Given the description of an element on the screen output the (x, y) to click on. 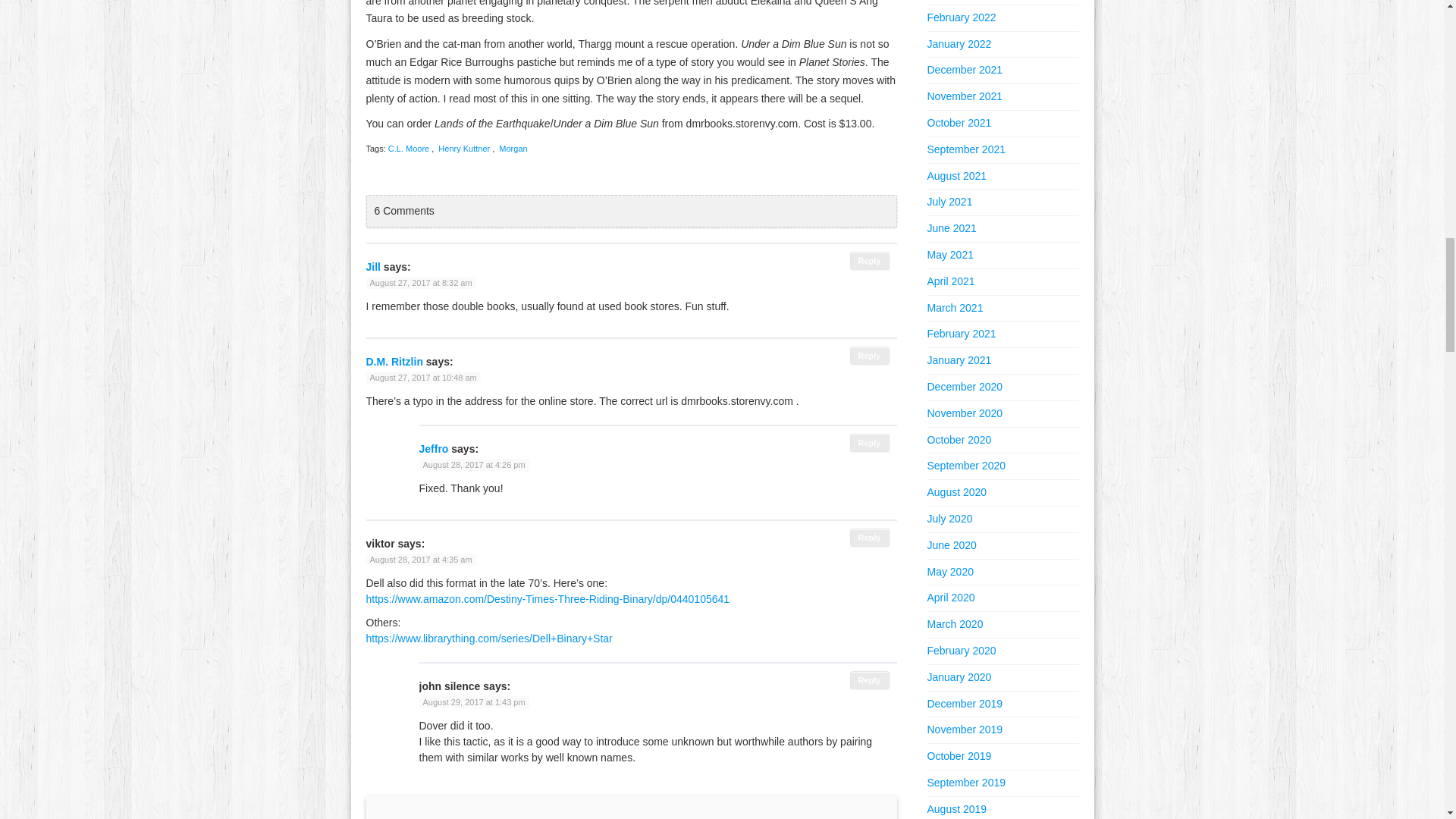
August 28, 2017 at 4:35 am (420, 559)
Reply (869, 537)
August 27, 2017 at 10:48 am (422, 377)
Morgan (512, 148)
Reply (869, 679)
C.L. Moore (407, 148)
Reply (869, 355)
Jeffro (433, 449)
Henry Kuttner (463, 148)
August 27, 2017 at 8:32 am (420, 282)
August 29, 2017 at 1:43 pm (473, 702)
D.M. Ritzlin (393, 361)
Reply (869, 260)
Reply (869, 443)
Jill (372, 266)
